Given the description of an element on the screen output the (x, y) to click on. 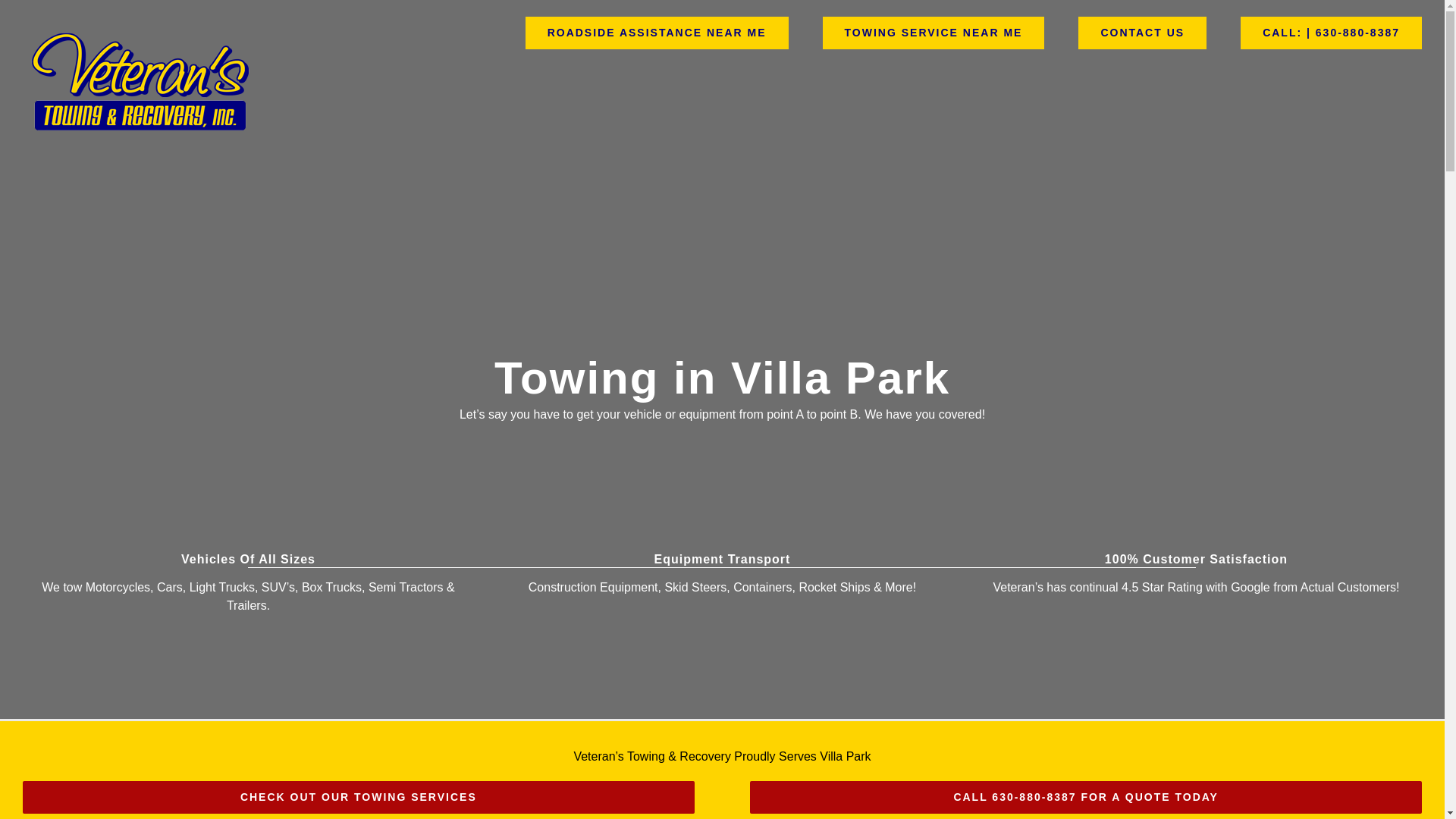
CHECK OUT OUR TOWING SERVICES (358, 797)
ROADSIDE ASSISTANCE NEAR ME (657, 31)
TOWING SERVICE NEAR ME (933, 31)
CONTACT US (1142, 31)
CHECK OUT OUR TOWING SERVICES (358, 797)
CALL 630-880-8387 FOR A QUOTE TODAY (1085, 797)
CALL 630-880-8387 FOR A QUOTE TODAY (1085, 797)
